Given the description of an element on the screen output the (x, y) to click on. 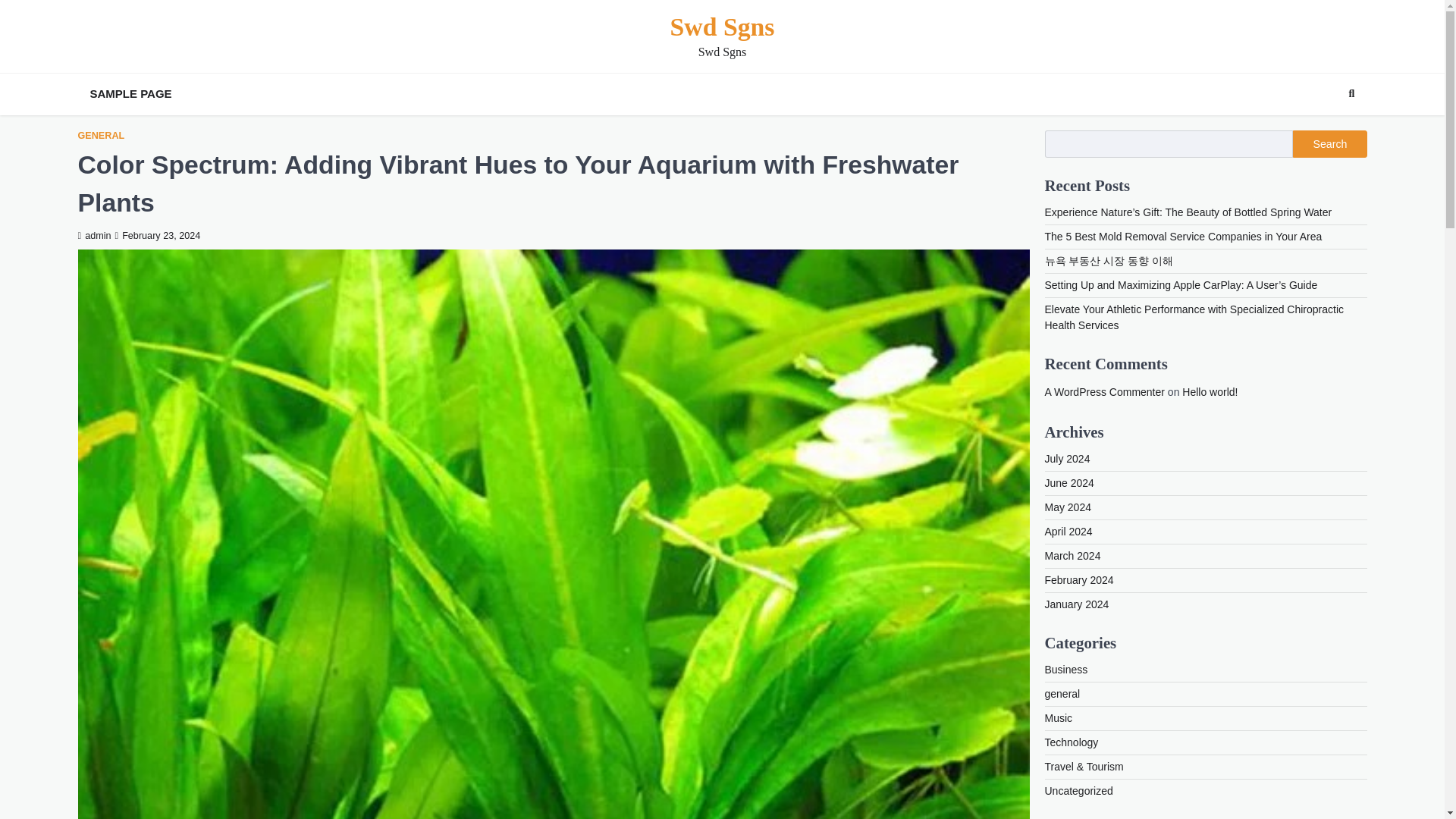
July 2024 (1067, 458)
SAMPLE PAGE (129, 94)
March 2024 (1072, 555)
Uncategorized (1079, 790)
The 5 Best Mold Removal Service Companies in Your Area (1183, 236)
May 2024 (1067, 507)
Search (1351, 93)
Hello world! (1209, 391)
A WordPress Commenter (1104, 391)
general (1062, 693)
April 2024 (1069, 531)
GENERAL (100, 135)
Search (1329, 144)
February 23, 2024 (157, 235)
June 2024 (1069, 482)
